Given the description of an element on the screen output the (x, y) to click on. 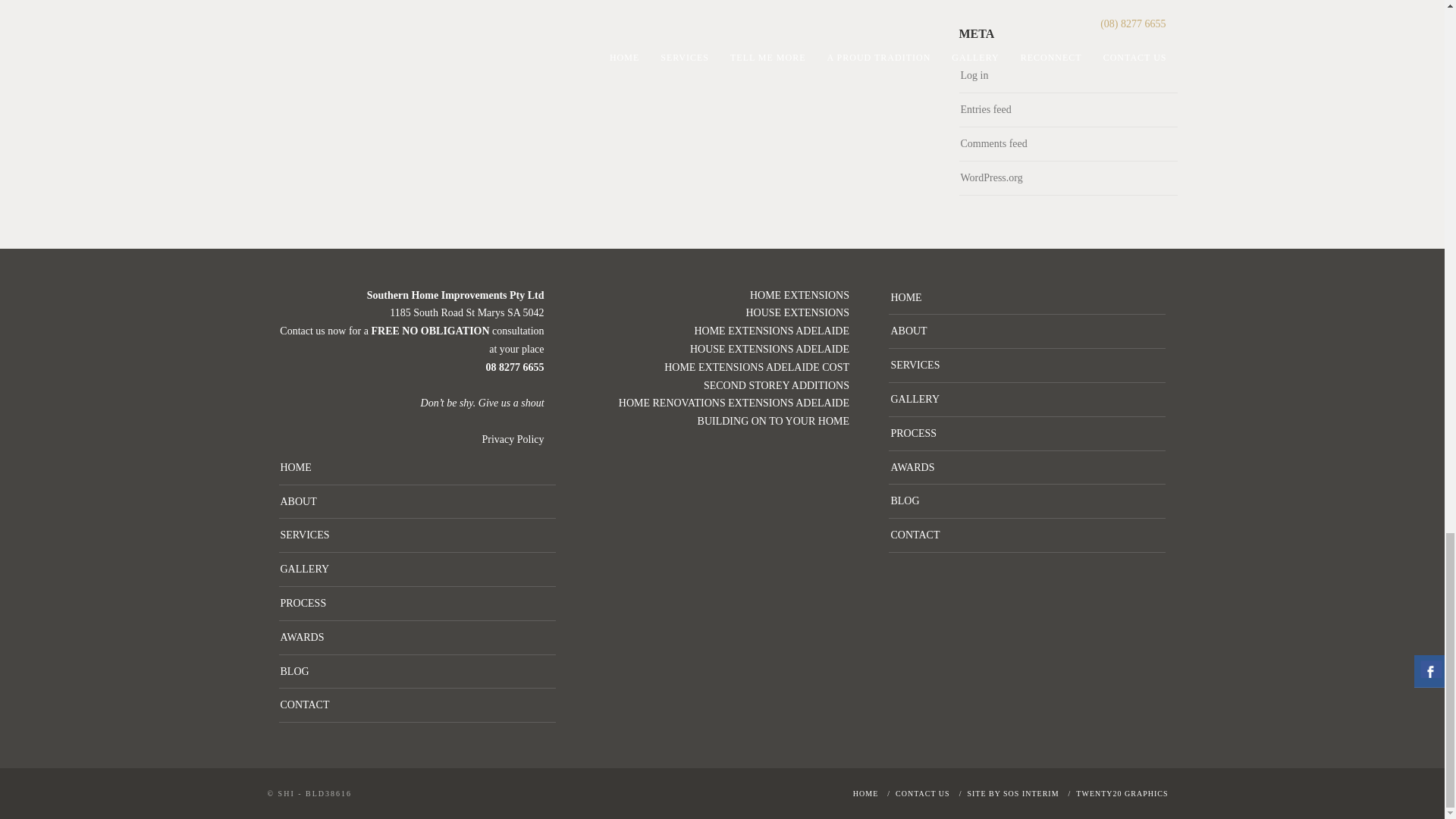
Log in (973, 75)
Entries feed (984, 108)
